Given the description of an element on the screen output the (x, y) to click on. 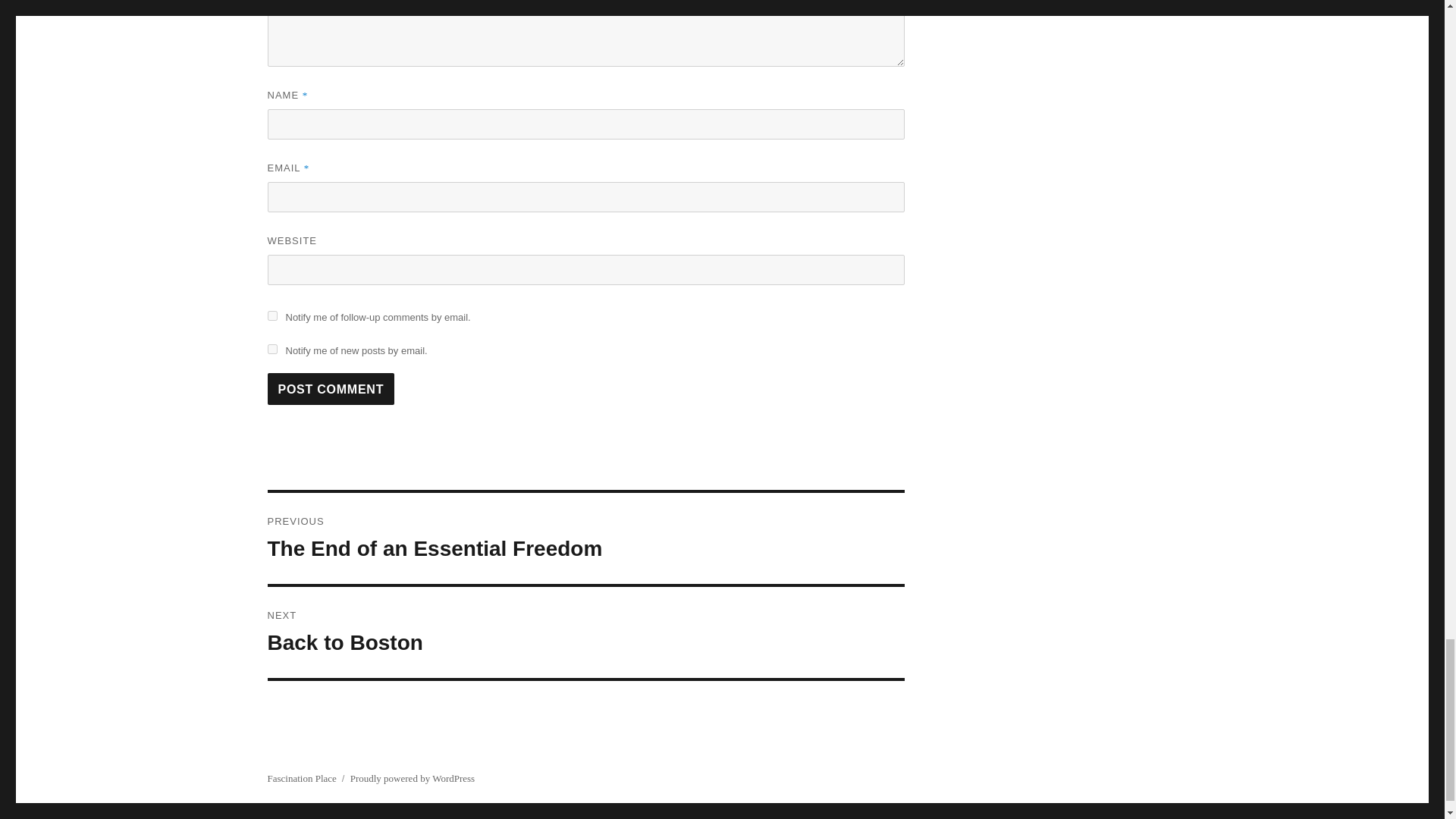
subscribe (271, 316)
subscribe (271, 348)
Post Comment (330, 388)
Proudly powered by WordPress (585, 632)
Post Comment (585, 538)
Fascination Place (412, 778)
